Given the description of an element on the screen output the (x, y) to click on. 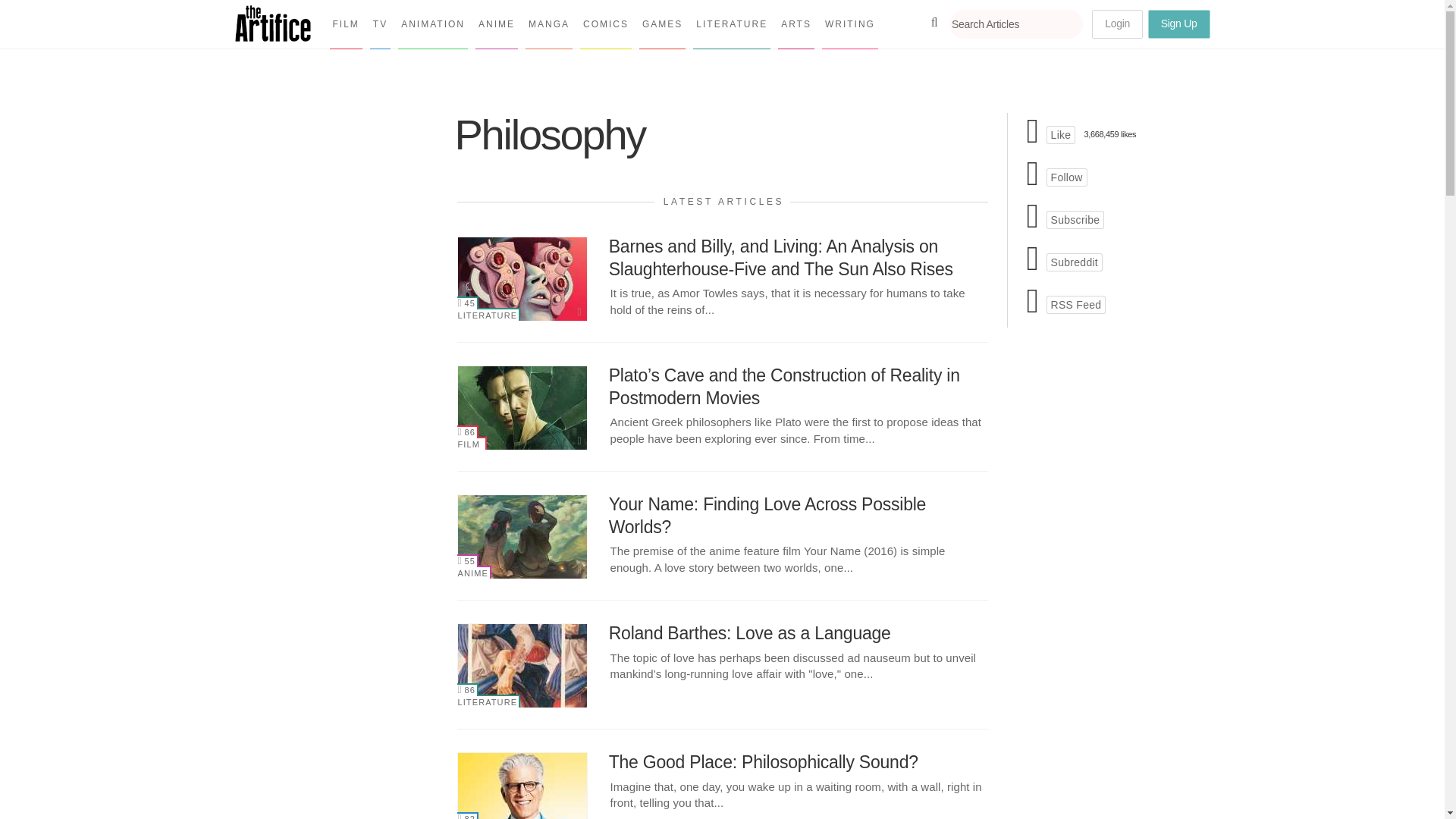
ANIMATION (432, 24)
LITERATURE (488, 314)
Sign Up (1178, 23)
WRITING (849, 24)
COMICS (605, 24)
Login (1117, 23)
45 (468, 302)
MANGA (548, 24)
LITERATURE (731, 24)
The Artifice (272, 37)
GAMES (662, 24)
